Given the description of an element on the screen output the (x, y) to click on. 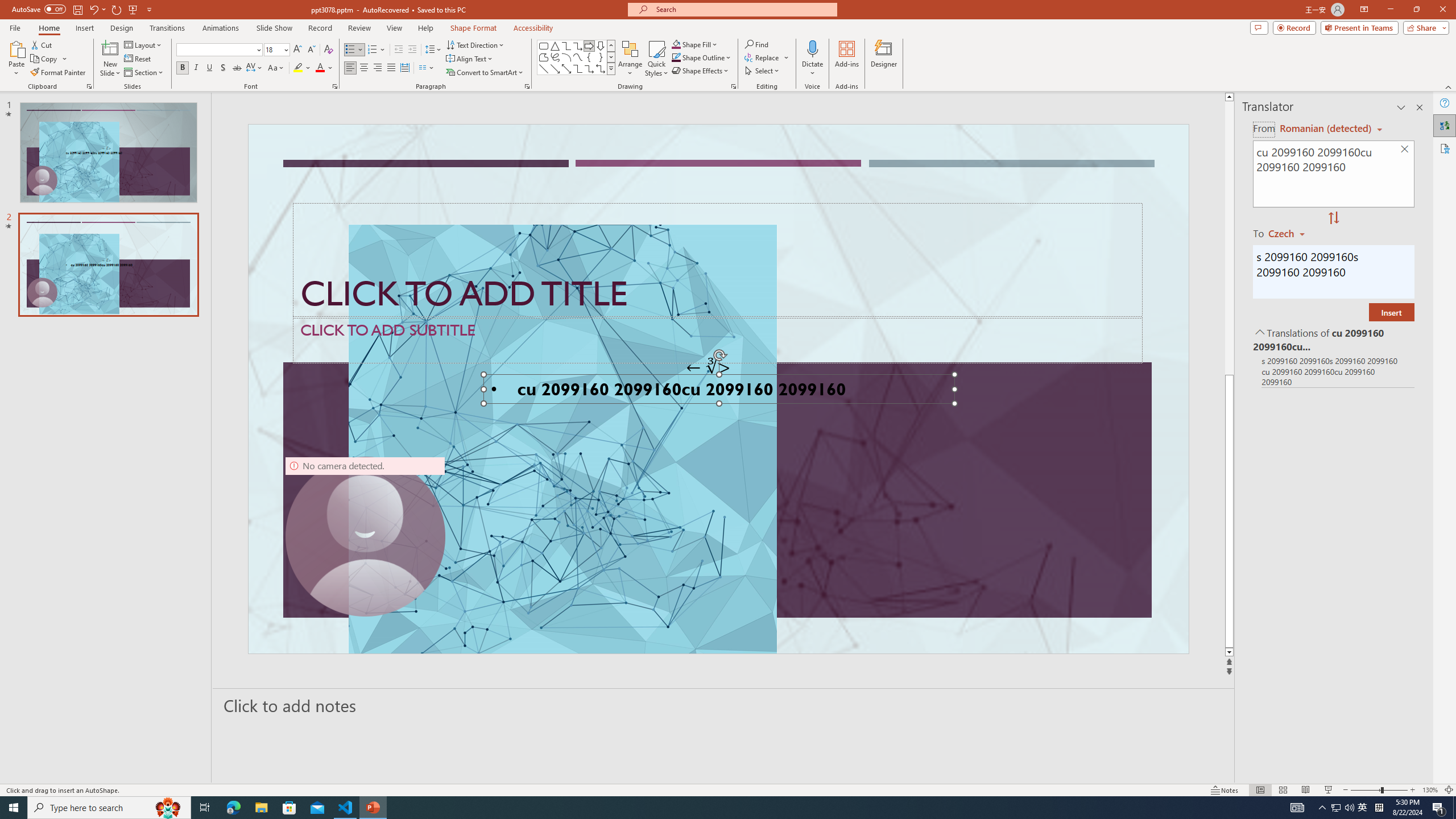
Czech (1291, 232)
Line Arrow: Double (566, 68)
